Given the description of an element on the screen output the (x, y) to click on. 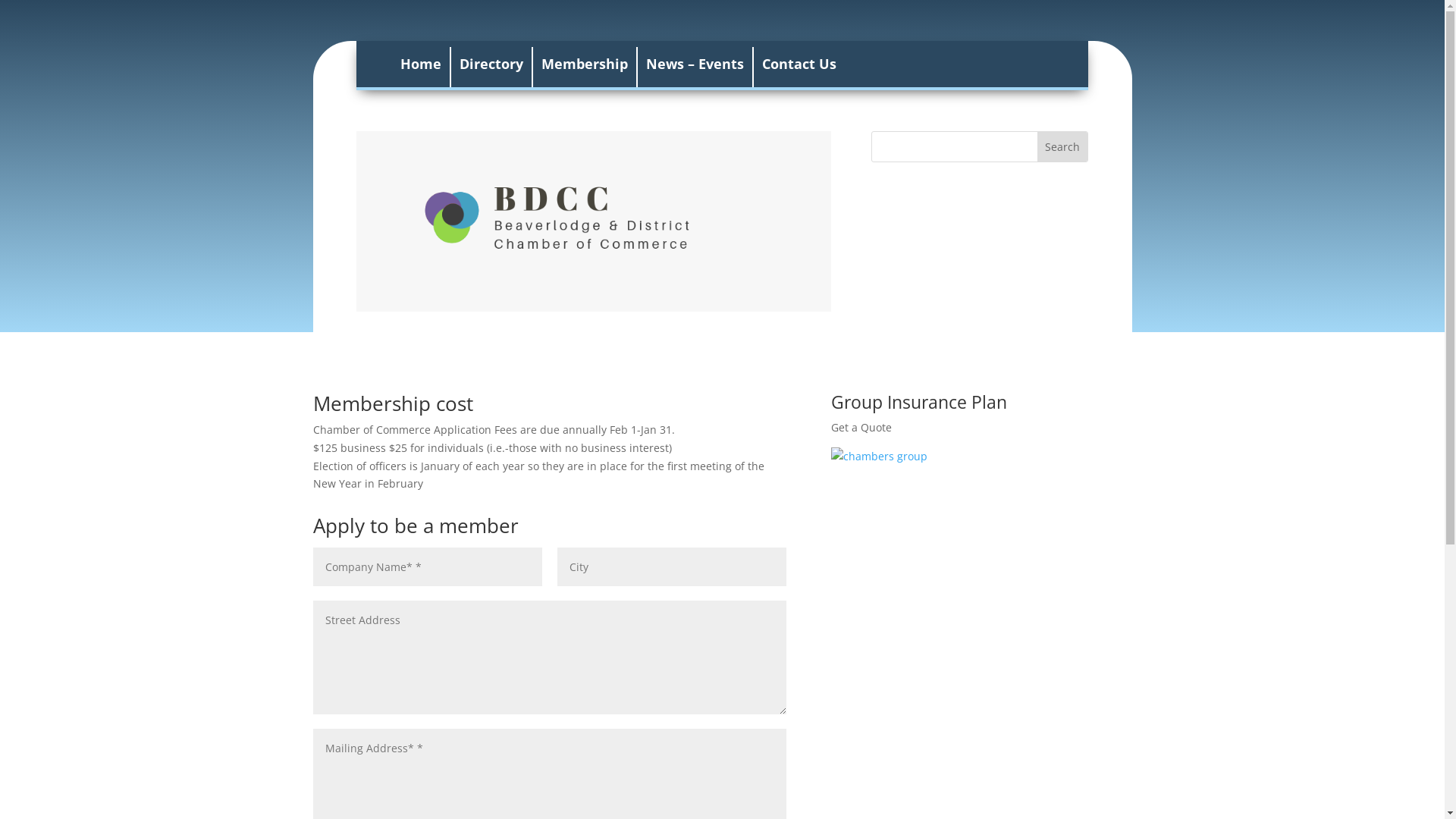
Directory Element type: text (491, 67)
Contact Us Element type: text (799, 67)
Membership Element type: text (584, 67)
Home Element type: text (420, 67)
Search Element type: text (1062, 146)
